Given the description of an element on the screen output the (x, y) to click on. 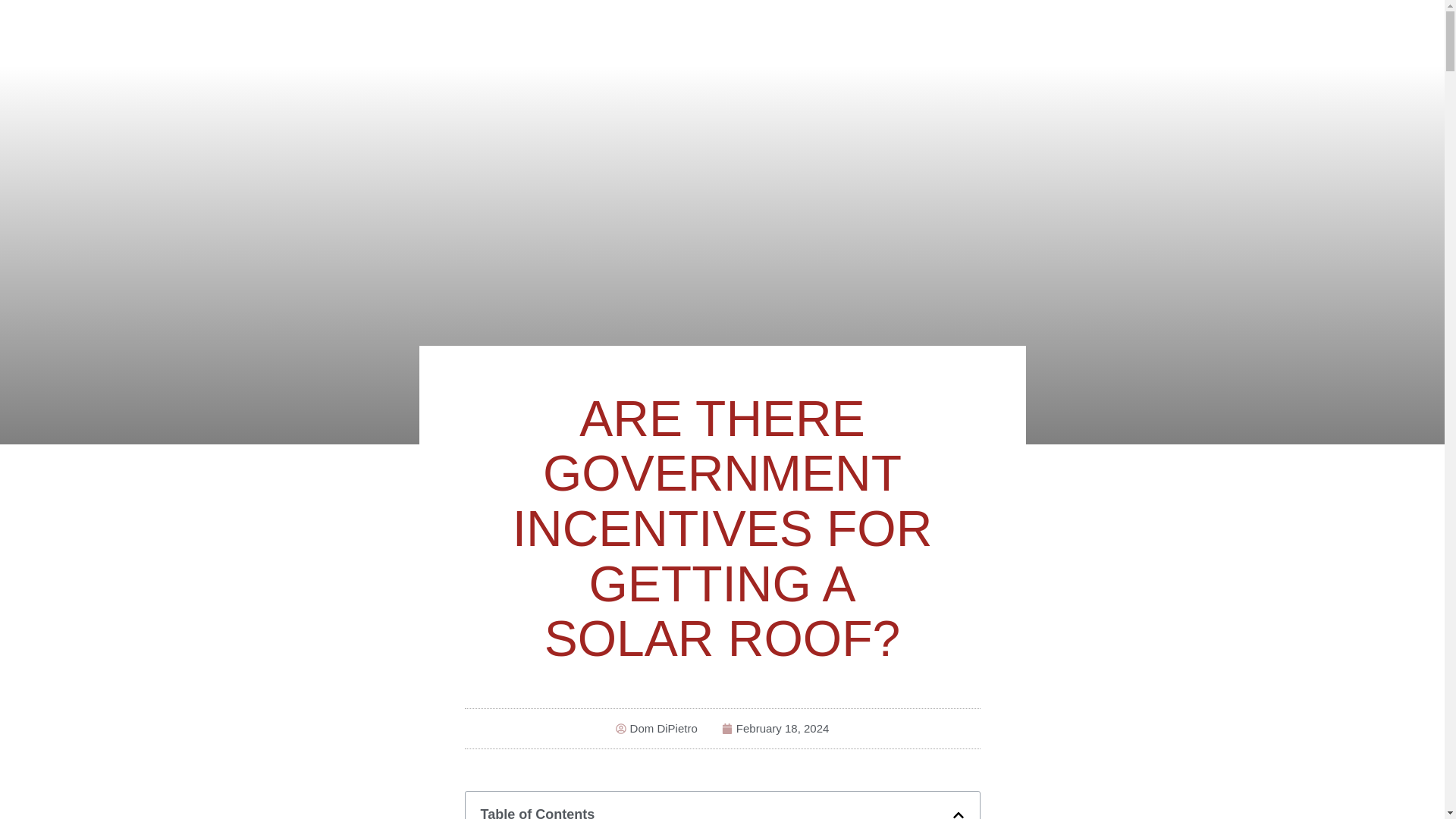
February 18, 2024 (775, 728)
Dom DiPietro (656, 728)
